Given the description of an element on the screen output the (x, y) to click on. 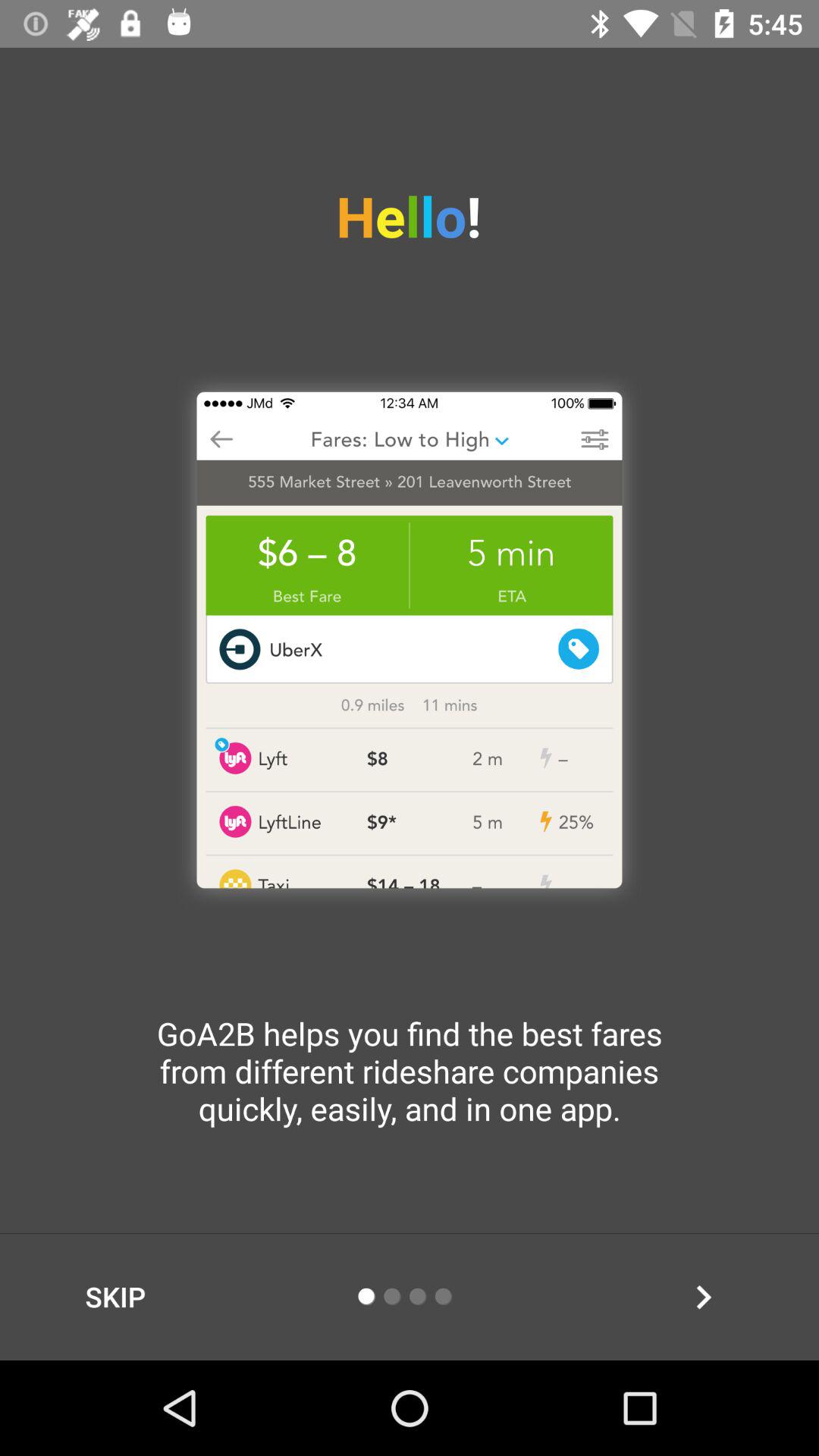
jump until skip (114, 1296)
